Given the description of an element on the screen output the (x, y) to click on. 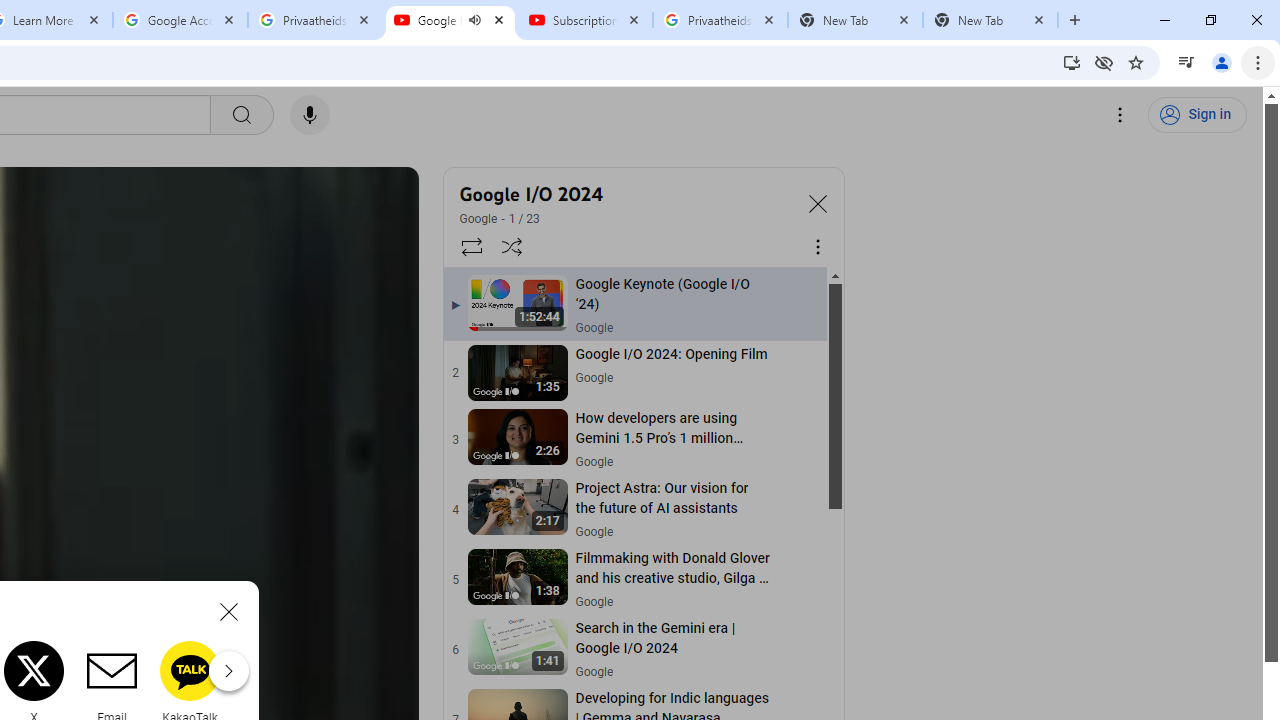
Google Account (180, 20)
